Given the description of an element on the screen output the (x, y) to click on. 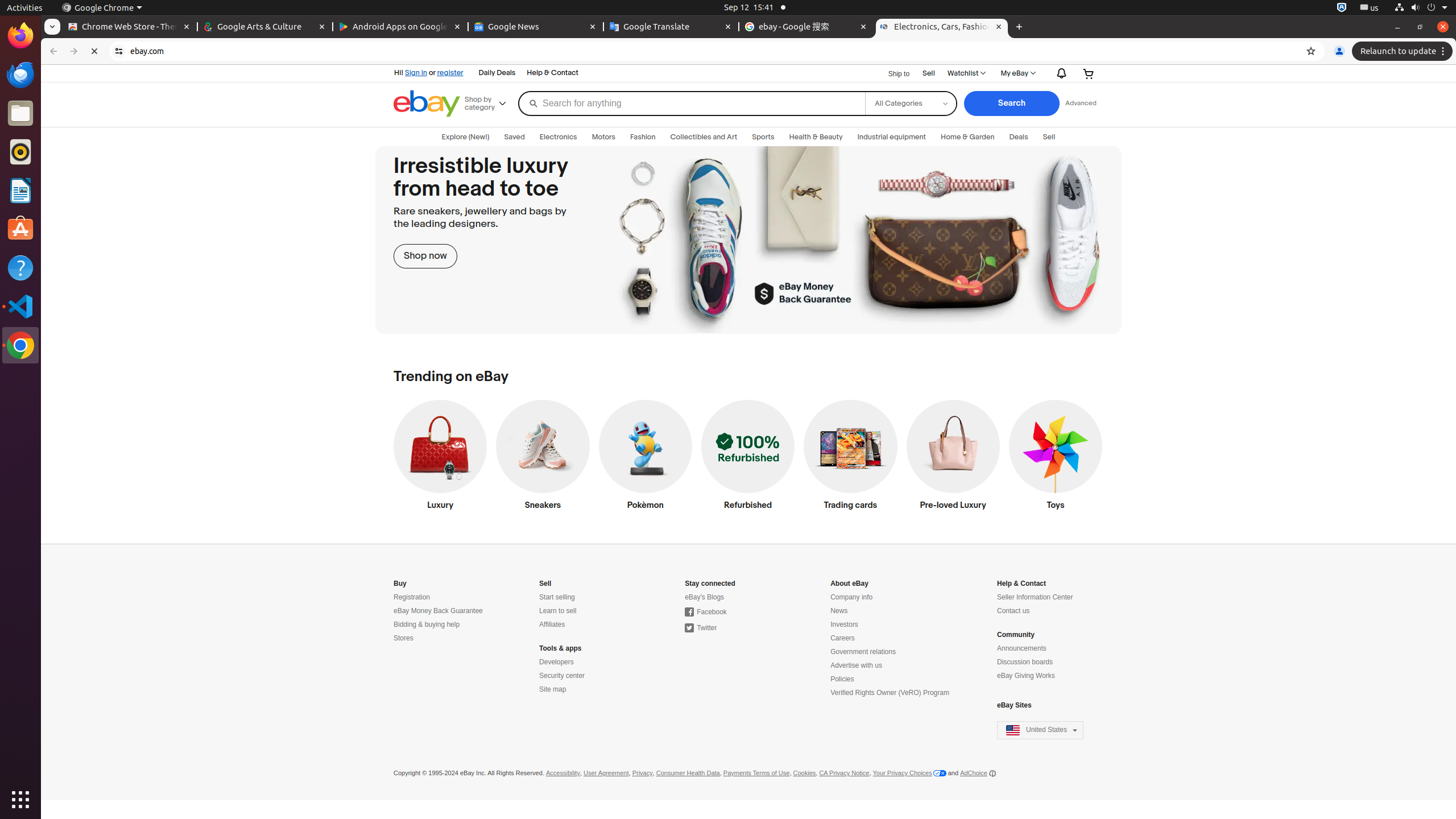
View site information Element type: push-button (118, 51)
Google News - Memory usage - 49.7 MB Element type: page-tab (535, 26)
:1.72/StatusNotifierItem Element type: menu (1341, 7)
Daily Deals Element type: link (496, 73)
Registration Element type: link (411, 597)
